Given the description of an element on the screen output the (x, y) to click on. 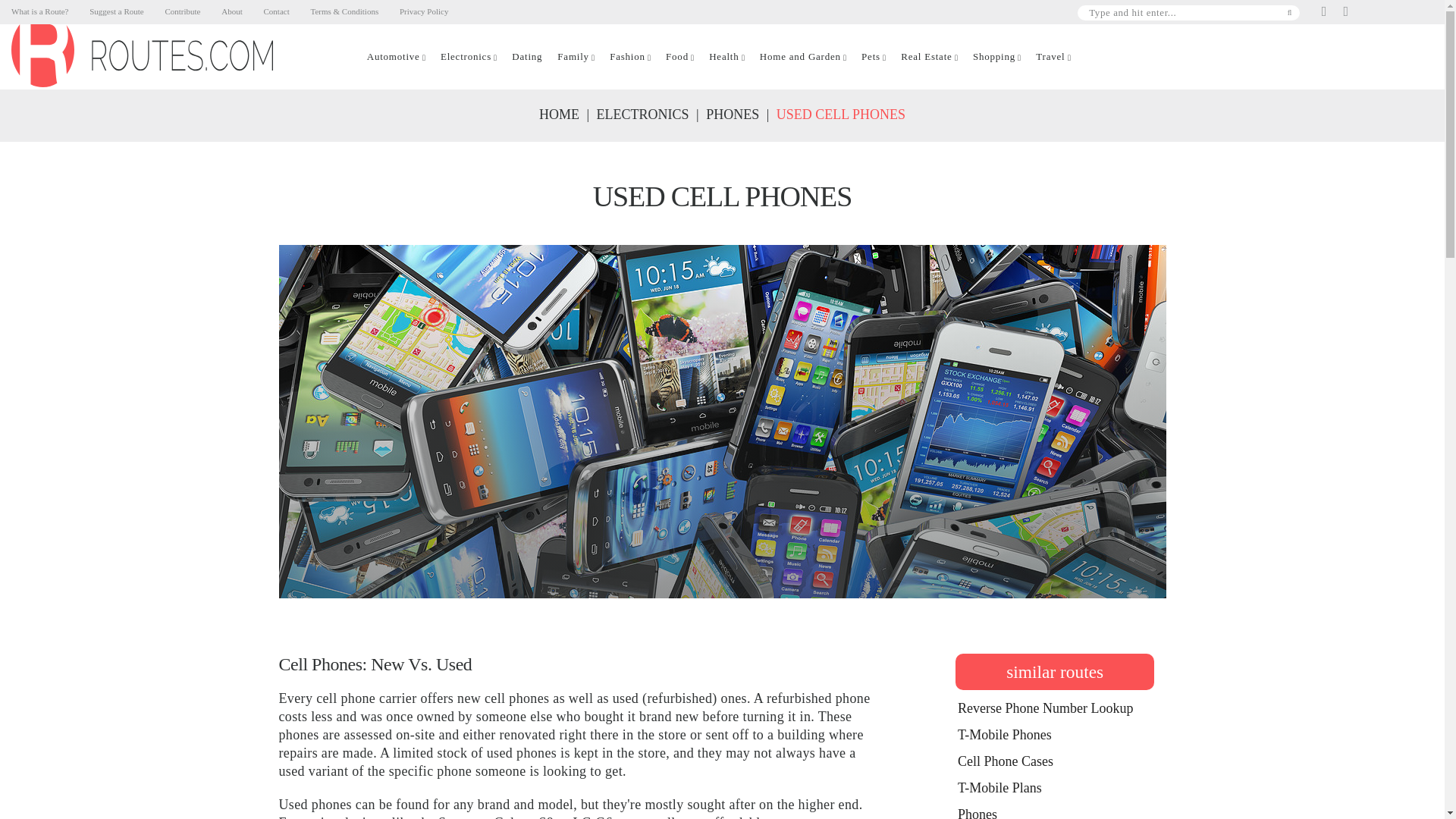
Automotive (393, 56)
Electronics (466, 56)
Suggest a Route (116, 10)
Contribute (182, 10)
Privacy Policy (423, 10)
Contact (276, 10)
What is a Route? (39, 10)
About (232, 10)
